Given the description of an element on the screen output the (x, y) to click on. 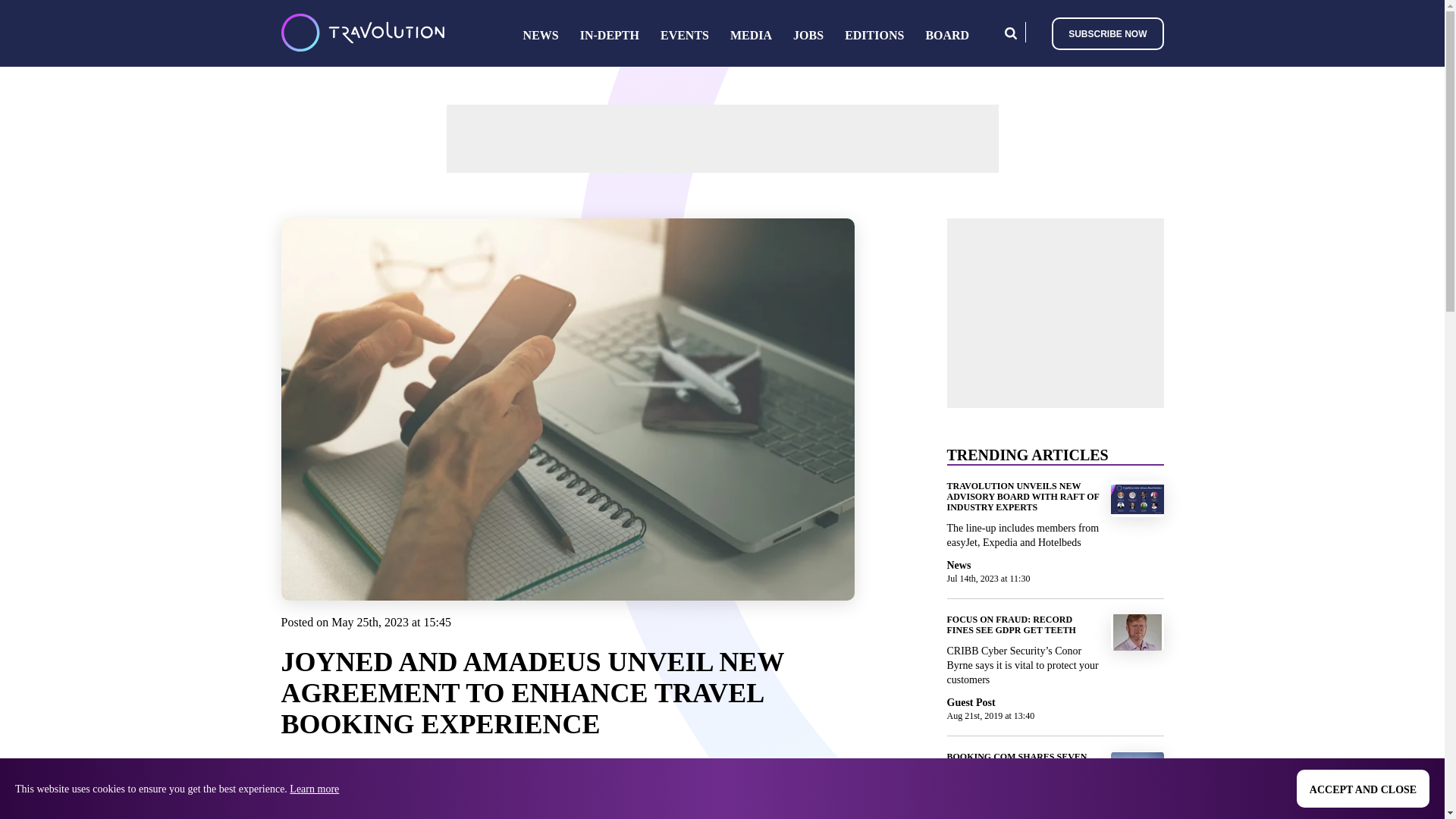
EDITIONS (874, 34)
BOARD (946, 34)
EVENTS (685, 34)
JOBS (808, 34)
Search (1010, 32)
IN-DEPTH (609, 34)
NEWS (540, 34)
MEDIA (750, 34)
SUBSCRIBE NOW (1107, 32)
Board (946, 34)
